Given the description of an element on the screen output the (x, y) to click on. 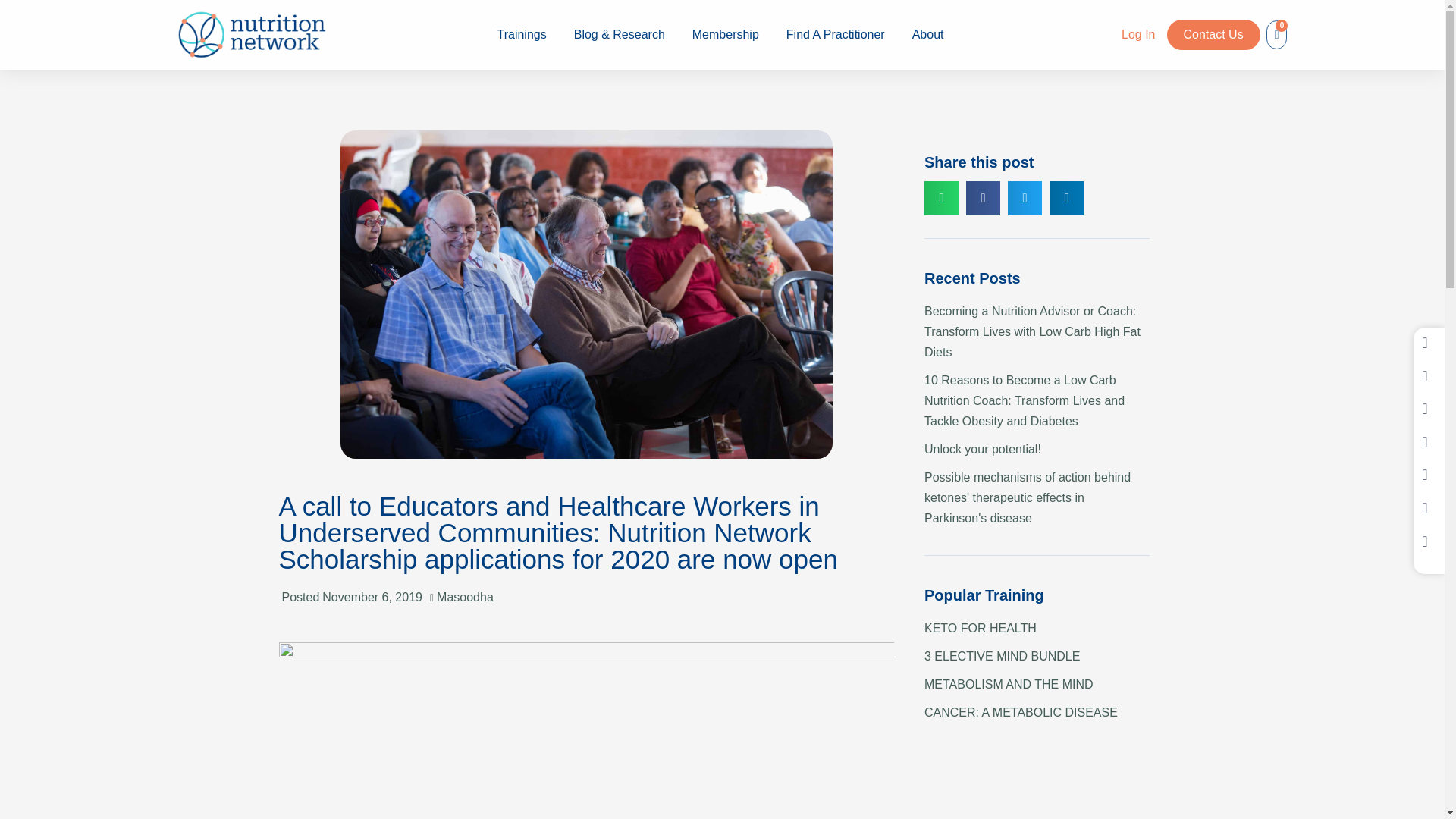
About (928, 34)
Masoodha (464, 597)
Find A Practitioner (835, 34)
November 6, 2019 (371, 597)
Membership (725, 34)
Trainings (520, 34)
Contact Us (1212, 34)
Log In (1137, 34)
